Given the description of an element on the screen output the (x, y) to click on. 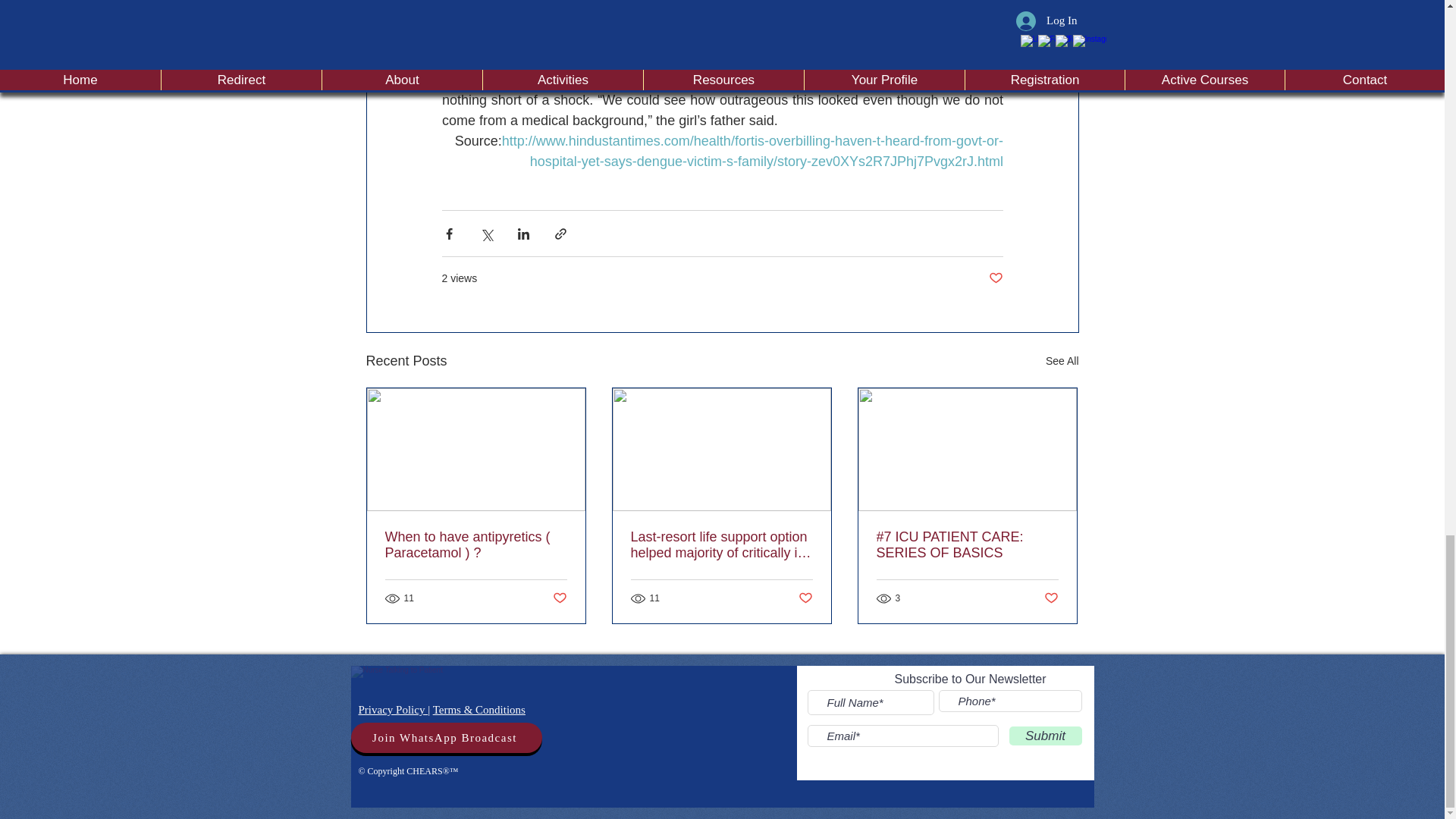
Privacy Policy (393, 709)
Post not marked as liked (1050, 598)
Post not marked as liked (558, 598)
See All (1061, 361)
Post not marked as liked (804, 598)
Post not marked as liked (995, 278)
